Given the description of an element on the screen output the (x, y) to click on. 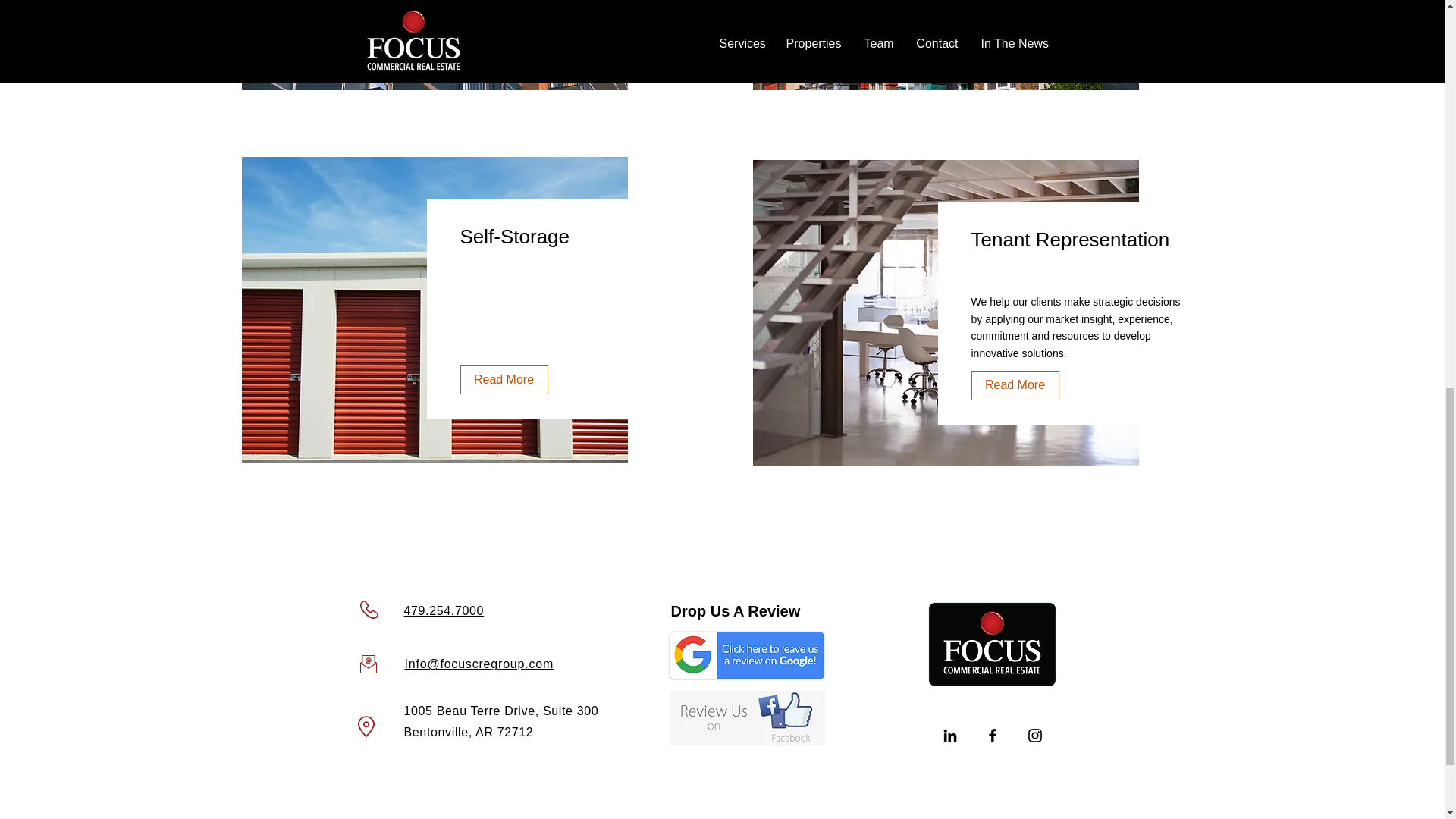
Read More (503, 378)
Read More (1014, 12)
Apartment Building .jpg (434, 45)
Colourful Terraced Houses.jpg (945, 45)
Read More (1014, 385)
Self-Storage Units.jpg (434, 309)
office space.jpg (945, 312)
Read More (503, 11)
